Given the description of an element on the screen output the (x, y) to click on. 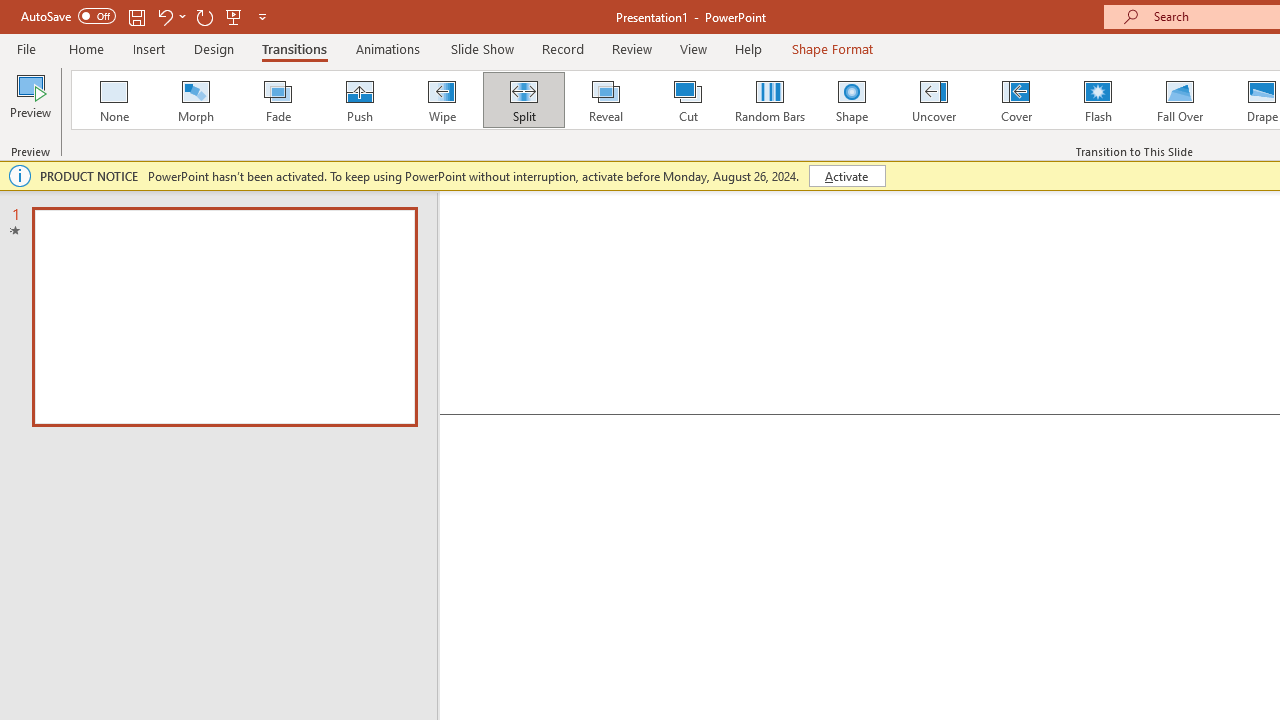
Uncover (934, 100)
Activate (846, 175)
Push (359, 100)
Fade (277, 100)
Random Bars (770, 100)
Fall Over (1180, 100)
